Given the description of an element on the screen output the (x, y) to click on. 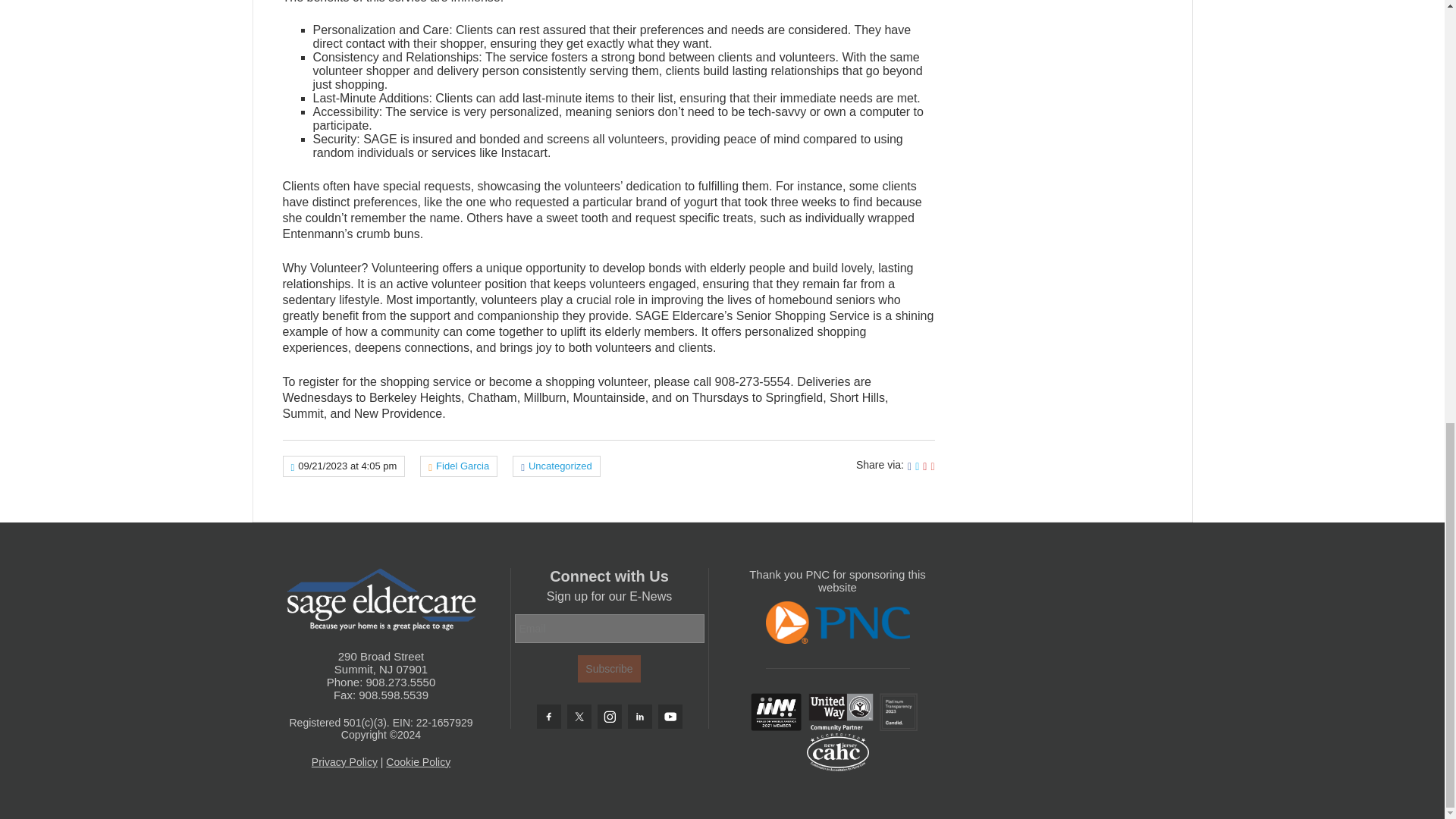
Subscribe (609, 668)
